Given the description of an element on the screen output the (x, y) to click on. 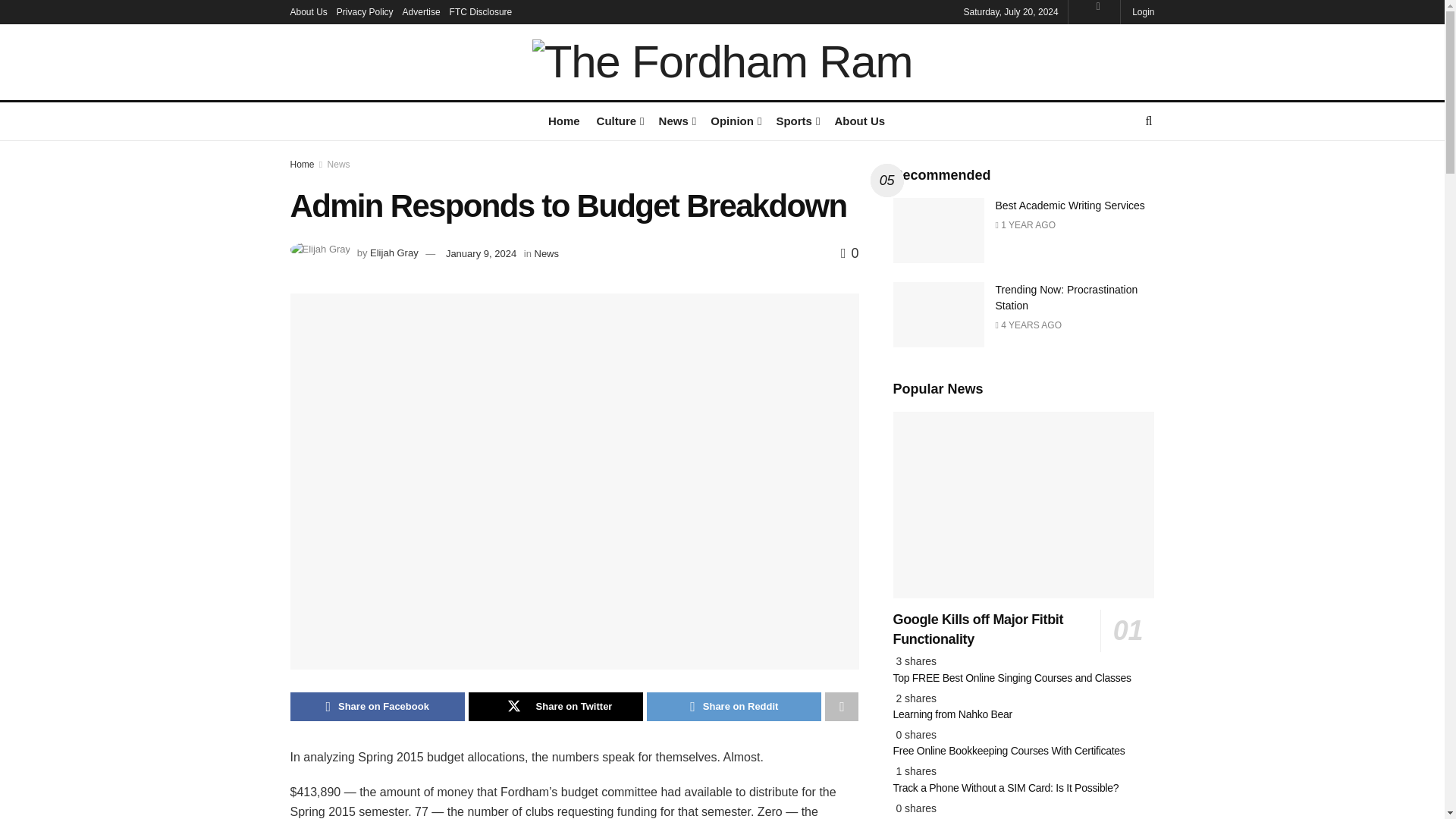
FTC Disclosure (480, 12)
Login (1141, 12)
Home (563, 120)
About Us (307, 12)
News (676, 120)
Culture (619, 120)
Opinion (734, 120)
Privacy Policy (364, 12)
Advertise (422, 12)
Sports (796, 120)
